Given the description of an element on the screen output the (x, y) to click on. 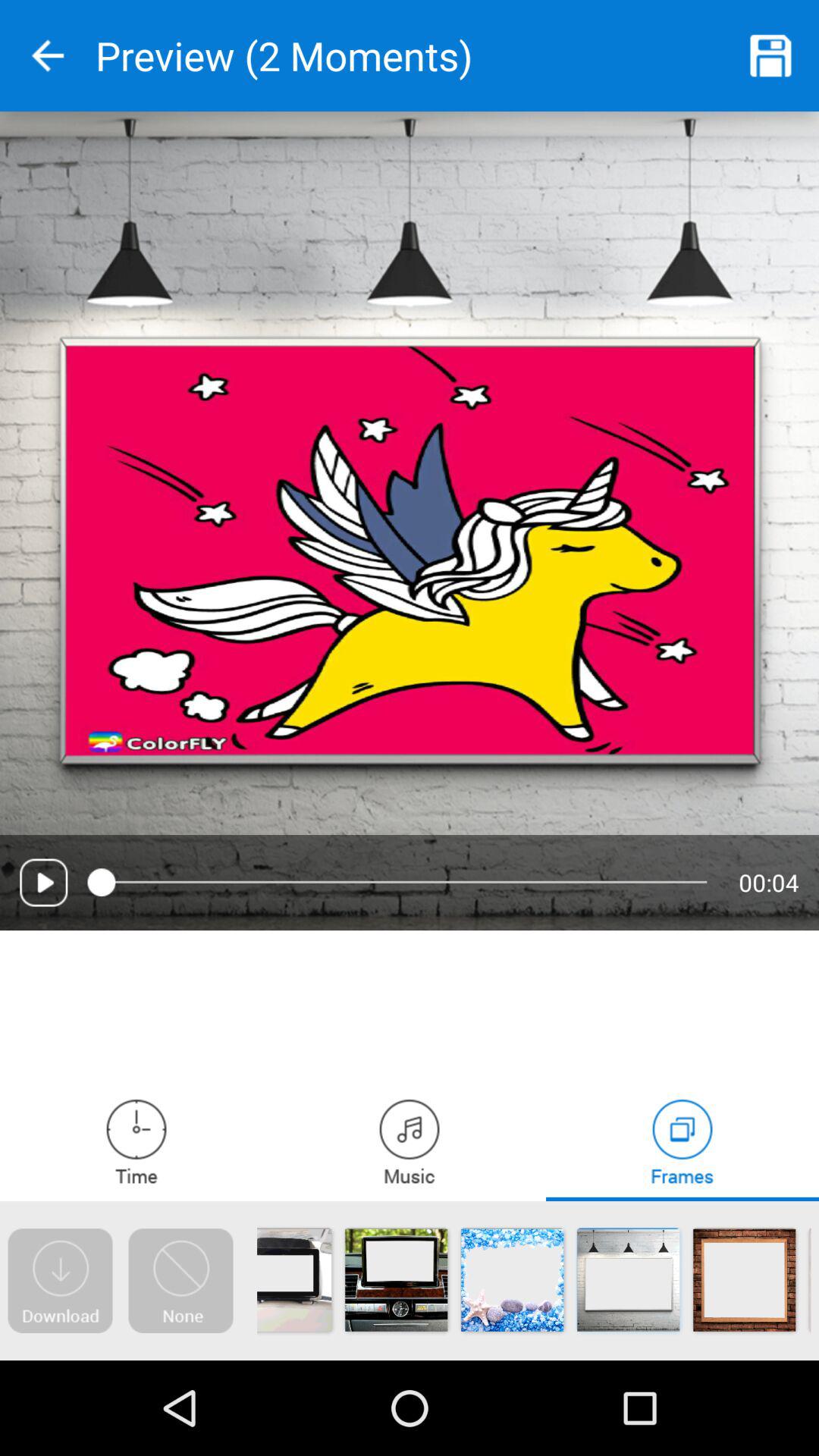
play the music (409, 1141)
